Given the description of an element on the screen output the (x, y) to click on. 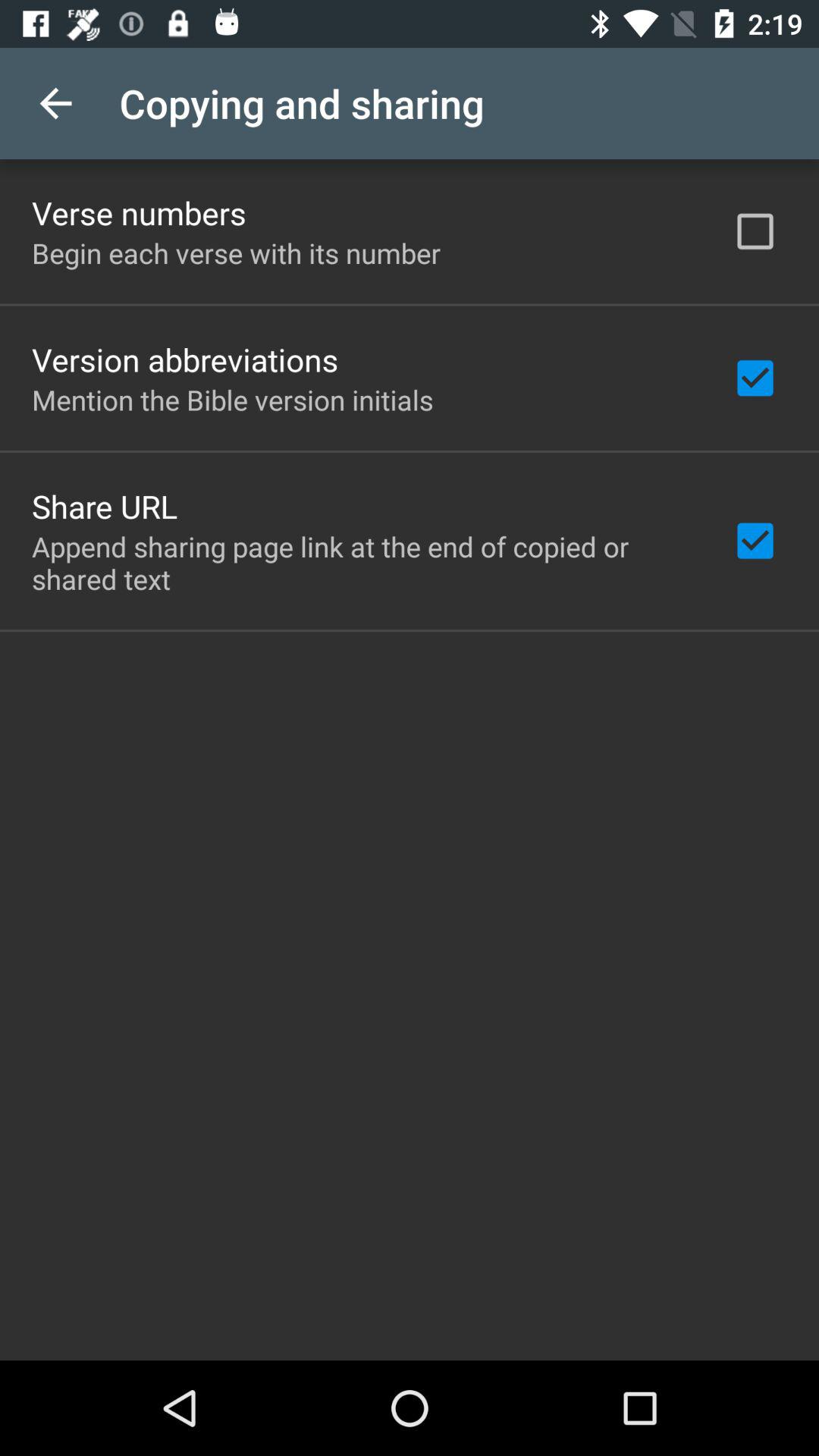
press the item below version abbreviations icon (232, 399)
